Given the description of an element on the screen output the (x, y) to click on. 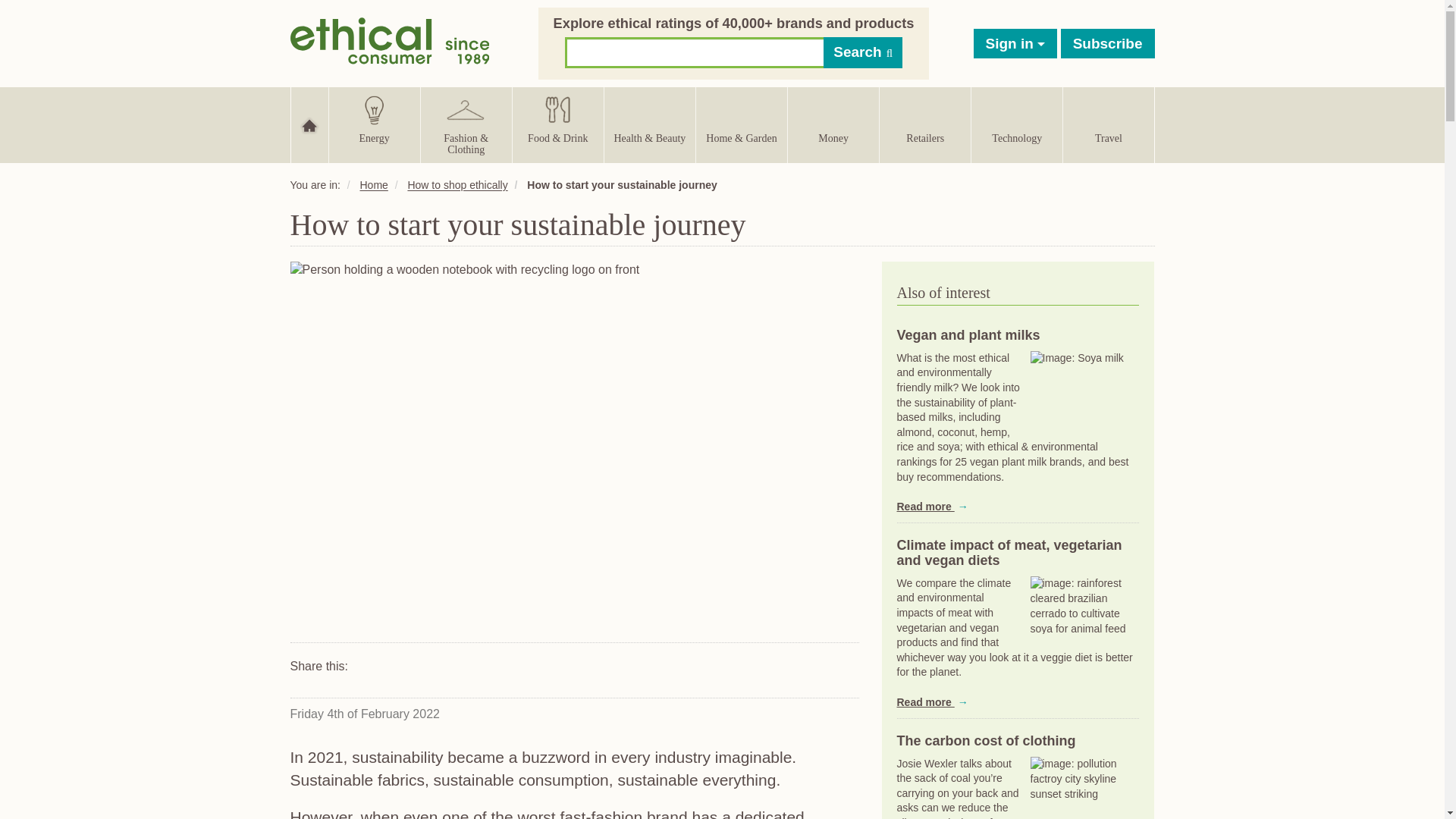
Retailers (925, 124)
Search (863, 51)
Travel (1107, 124)
Ethical Consumer (389, 38)
Energy (374, 124)
Money (833, 124)
Subscribe (1107, 43)
Technology (1016, 124)
Sign in (1016, 43)
